Given the description of an element on the screen output the (x, y) to click on. 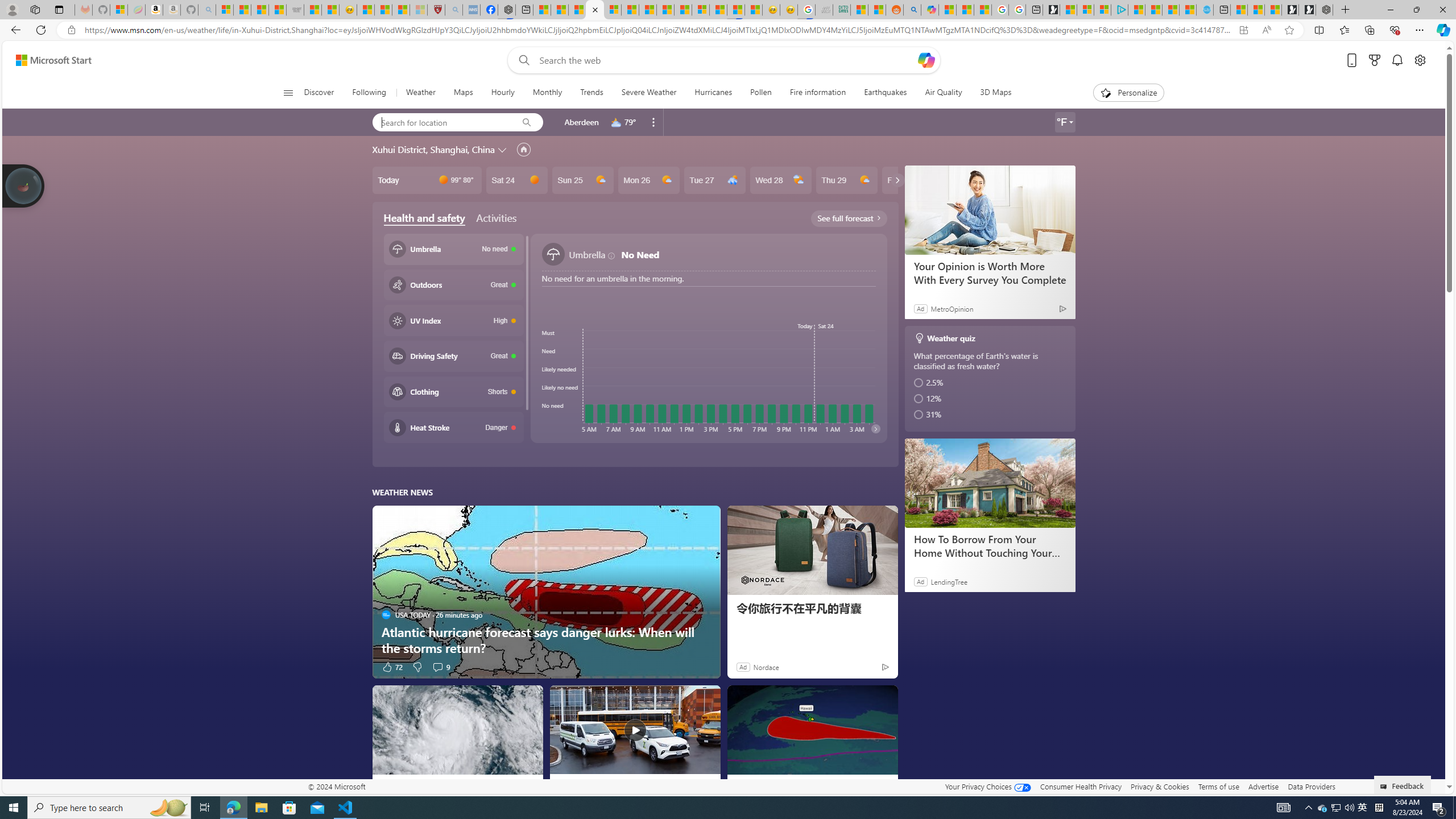
Consumer Health Privacy (1080, 786)
